Given the description of an element on the screen output the (x, y) to click on. 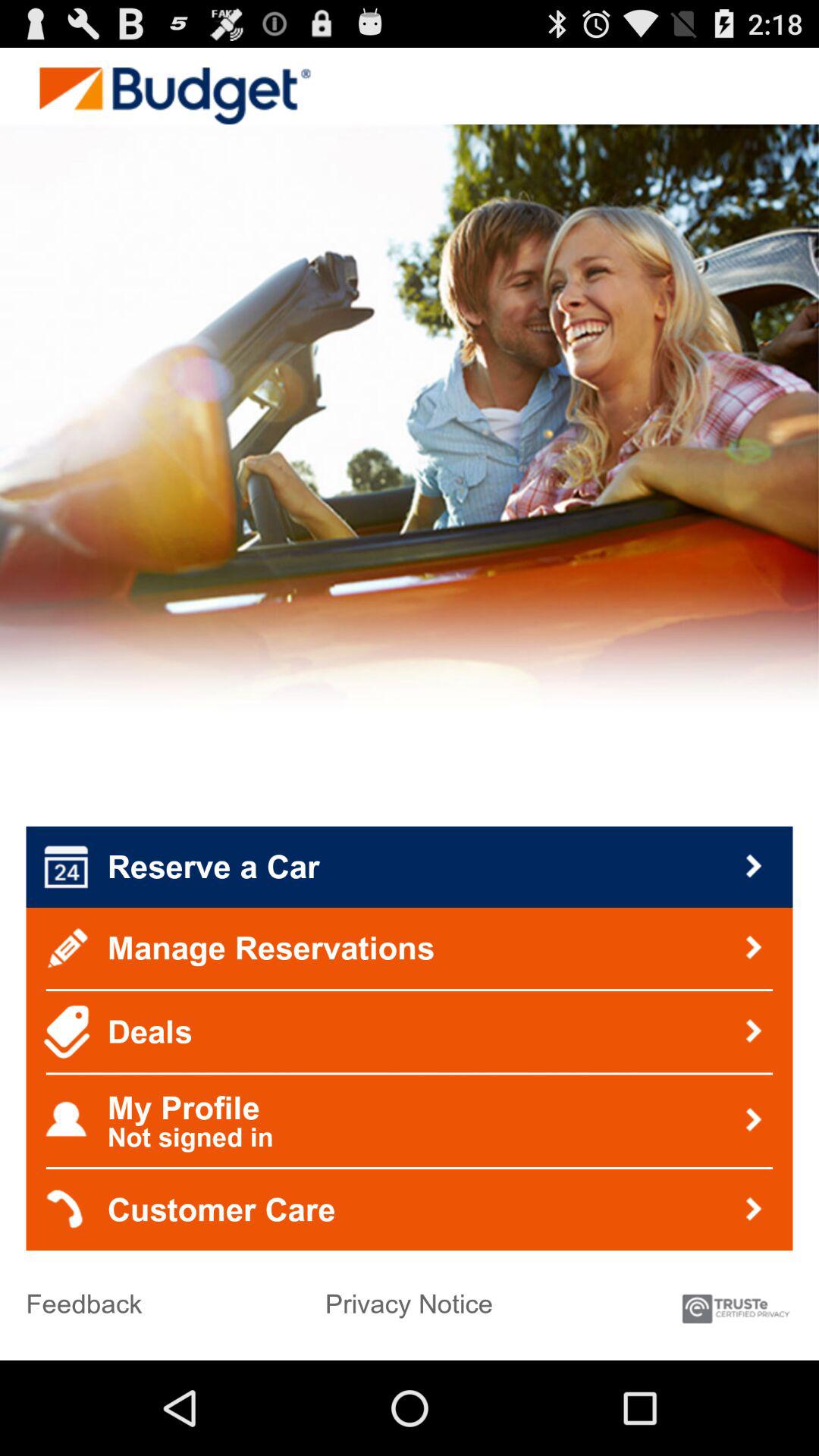
turn on item to the right of privacy notice (734, 1301)
